Given the description of an element on the screen output the (x, y) to click on. 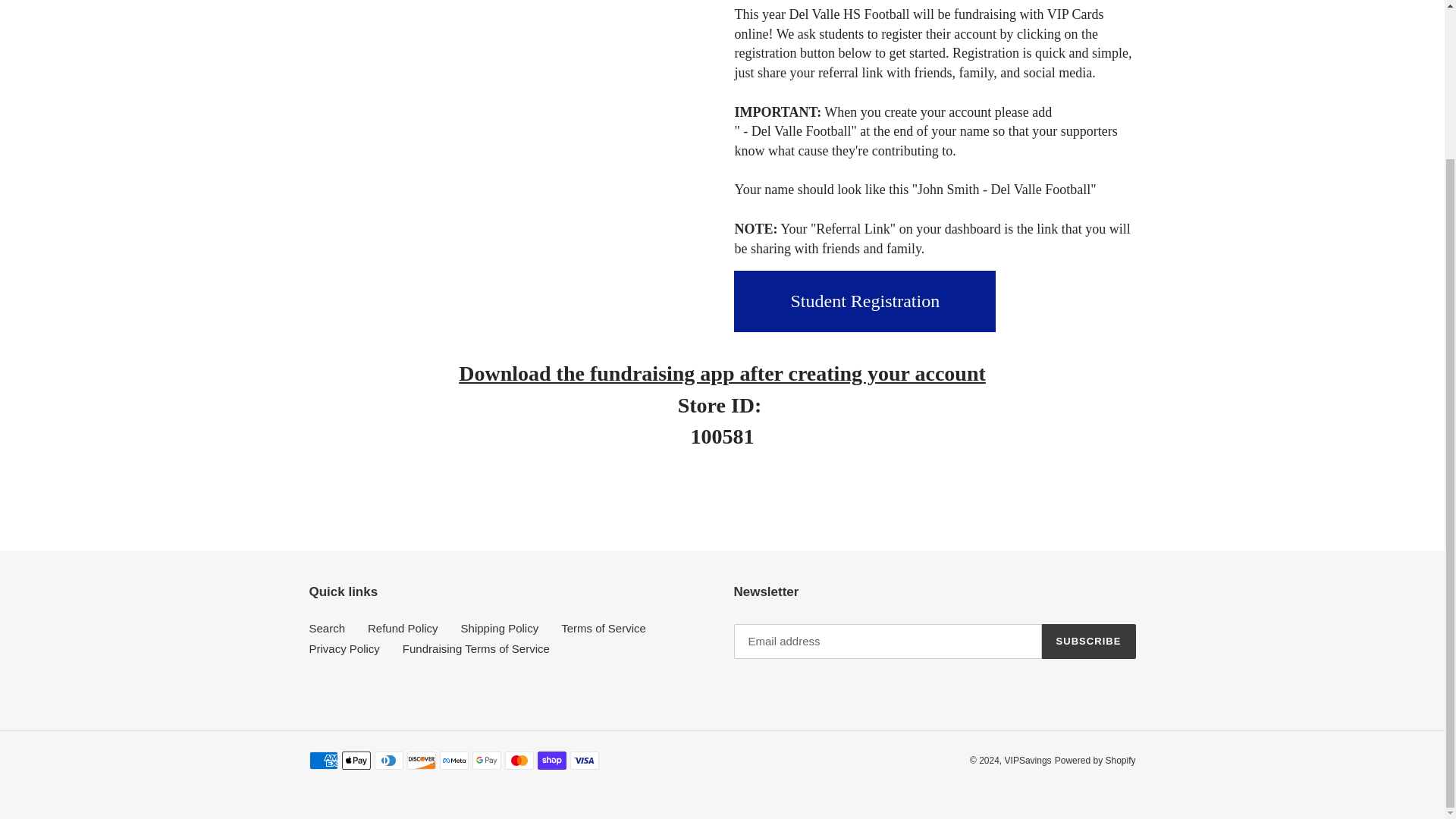
Search (327, 626)
Student Registration (864, 301)
Privacy Policy (344, 648)
Fundraising Terms of Service (476, 648)
Refund Policy (403, 626)
Terms of Service (603, 626)
Shipping Policy (499, 626)
SUBSCRIBE (1088, 641)
